Given the description of an element on the screen output the (x, y) to click on. 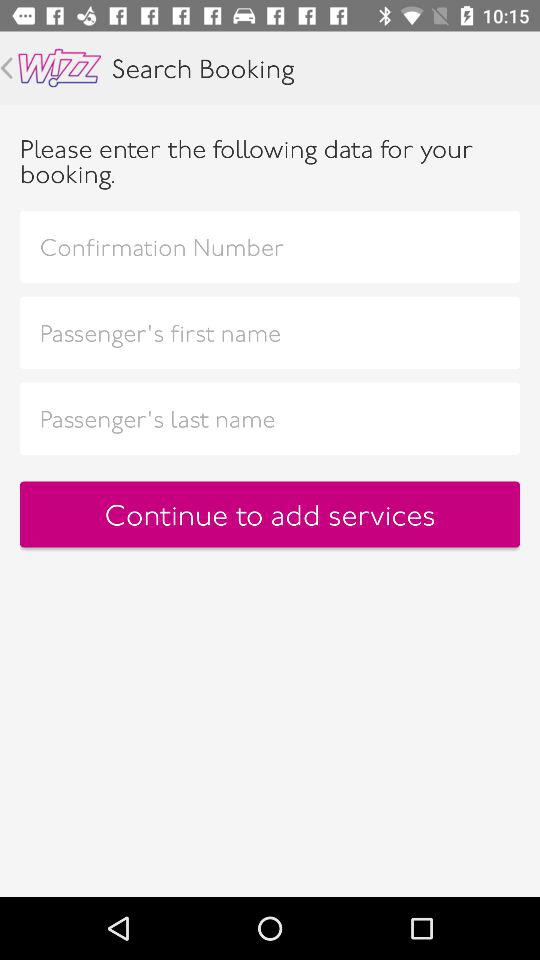
text box passenger first name (269, 332)
